Given the description of an element on the screen output the (x, y) to click on. 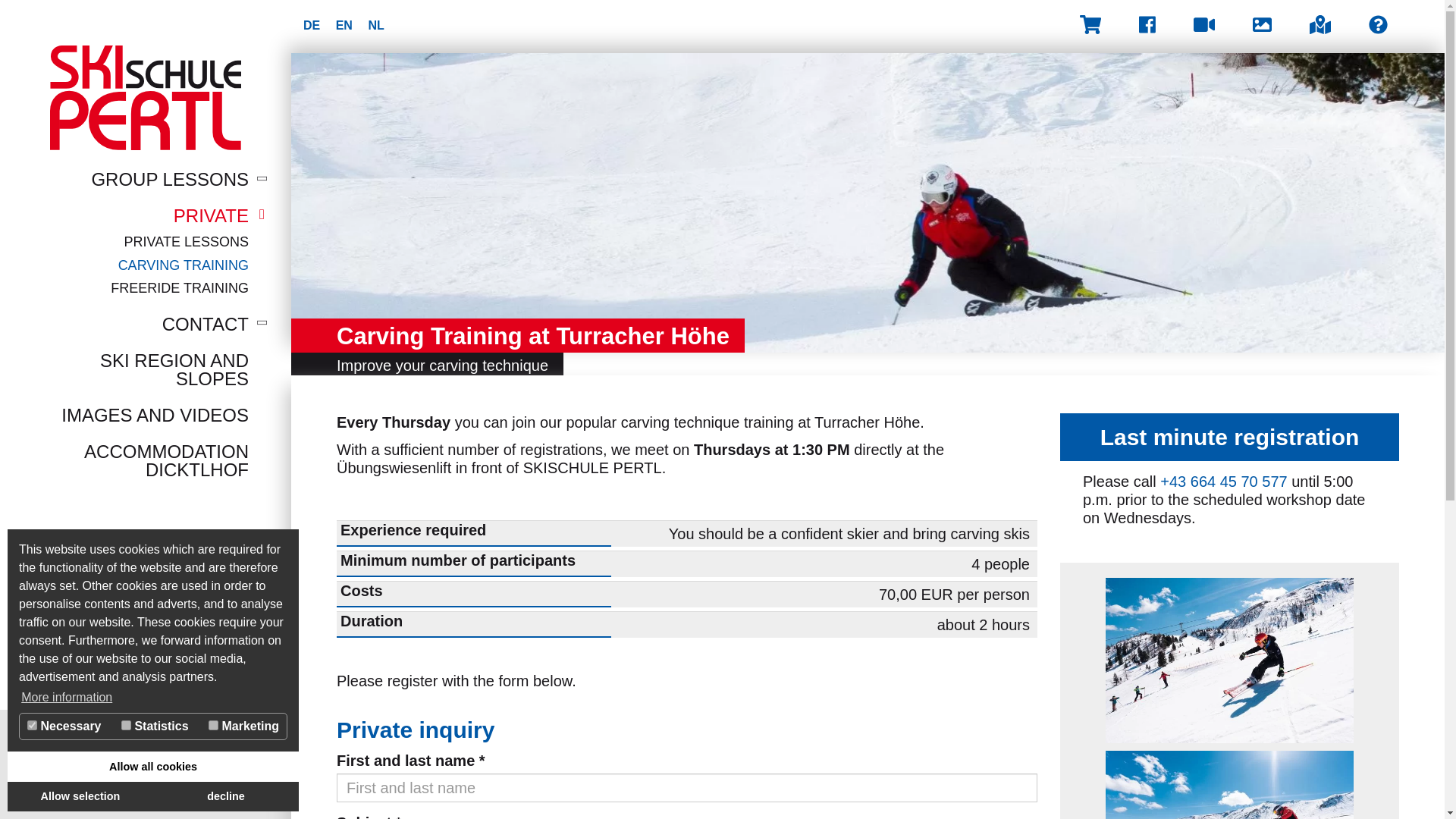
Freeride Training (179, 287)
Private Lessons (185, 241)
Carving Training (182, 264)
Ski Region and slopes (135, 370)
NL (376, 24)
EN (346, 24)
CONTACT (135, 324)
ACCOMMODATION DICKTLHOF (135, 461)
CARVING TRAINING (182, 264)
Accommodation Dicktlhof (135, 461)
DE (312, 24)
PRIVATE (135, 216)
Contact (135, 324)
PRIVATE LESSONS (185, 241)
GROUP LESSONS (135, 179)
